Given the description of an element on the screen output the (x, y) to click on. 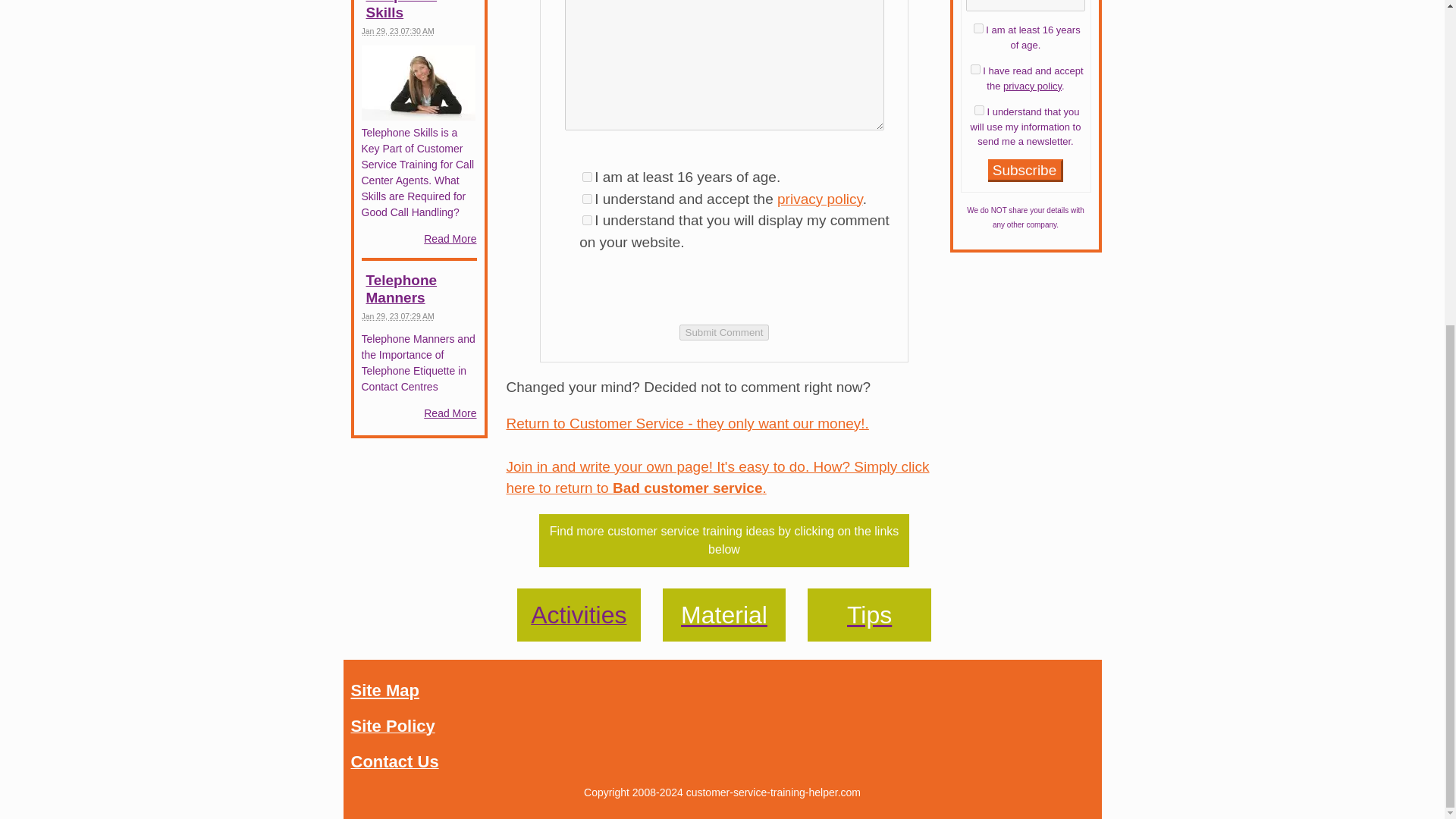
on (979, 28)
2023-01-29T07:30:39-0500 (397, 31)
on (975, 69)
on (979, 110)
1 (587, 176)
1 (587, 198)
2023-01-29T07:29:54-0500 (397, 316)
1 (587, 220)
Submit Comment (724, 331)
